Given the description of an element on the screen output the (x, y) to click on. 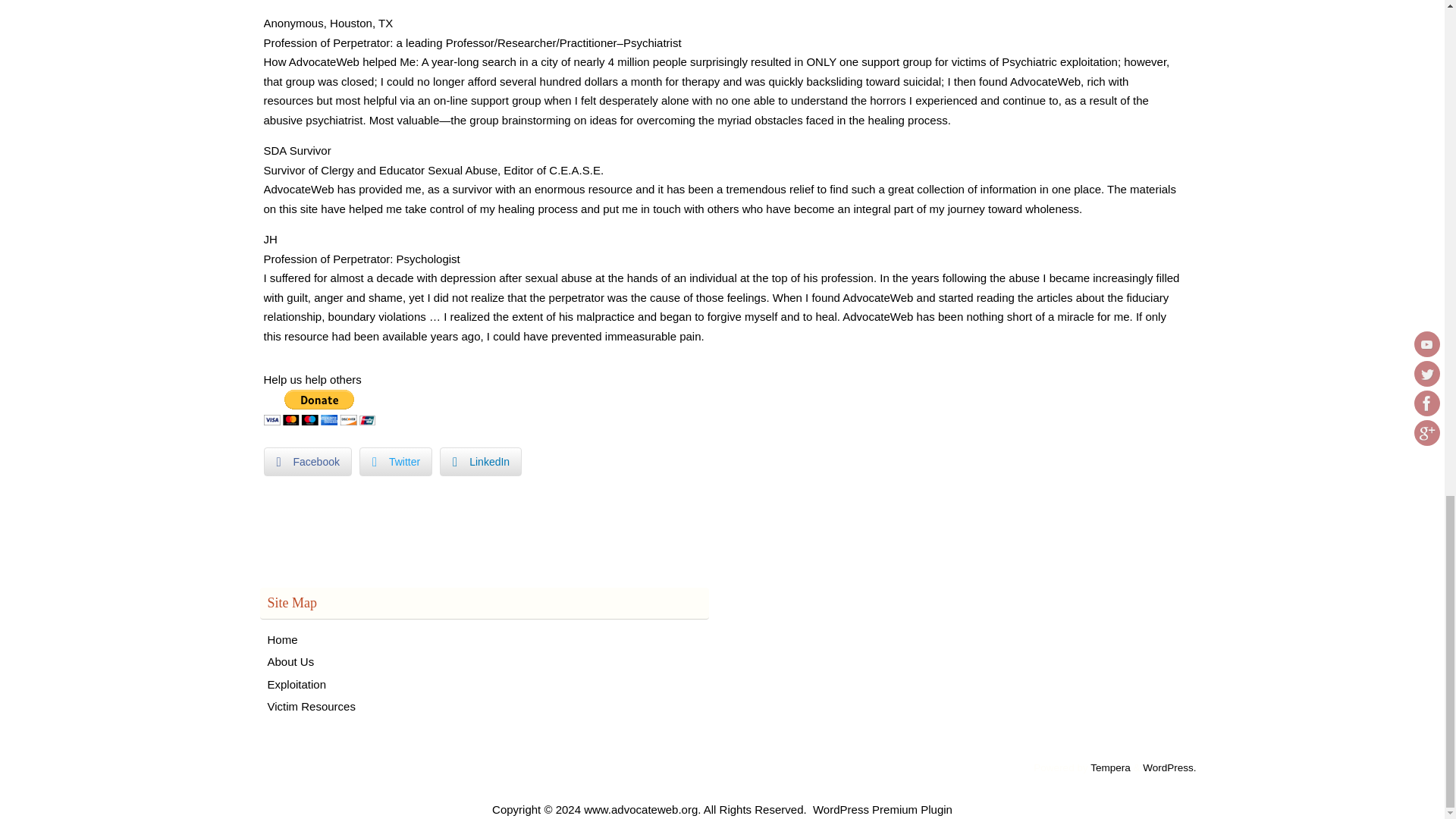
Tempera Theme by Cryout Creations (1110, 767)
Semantic Personal Publishing Platform (1168, 767)
